Given the description of an element on the screen output the (x, y) to click on. 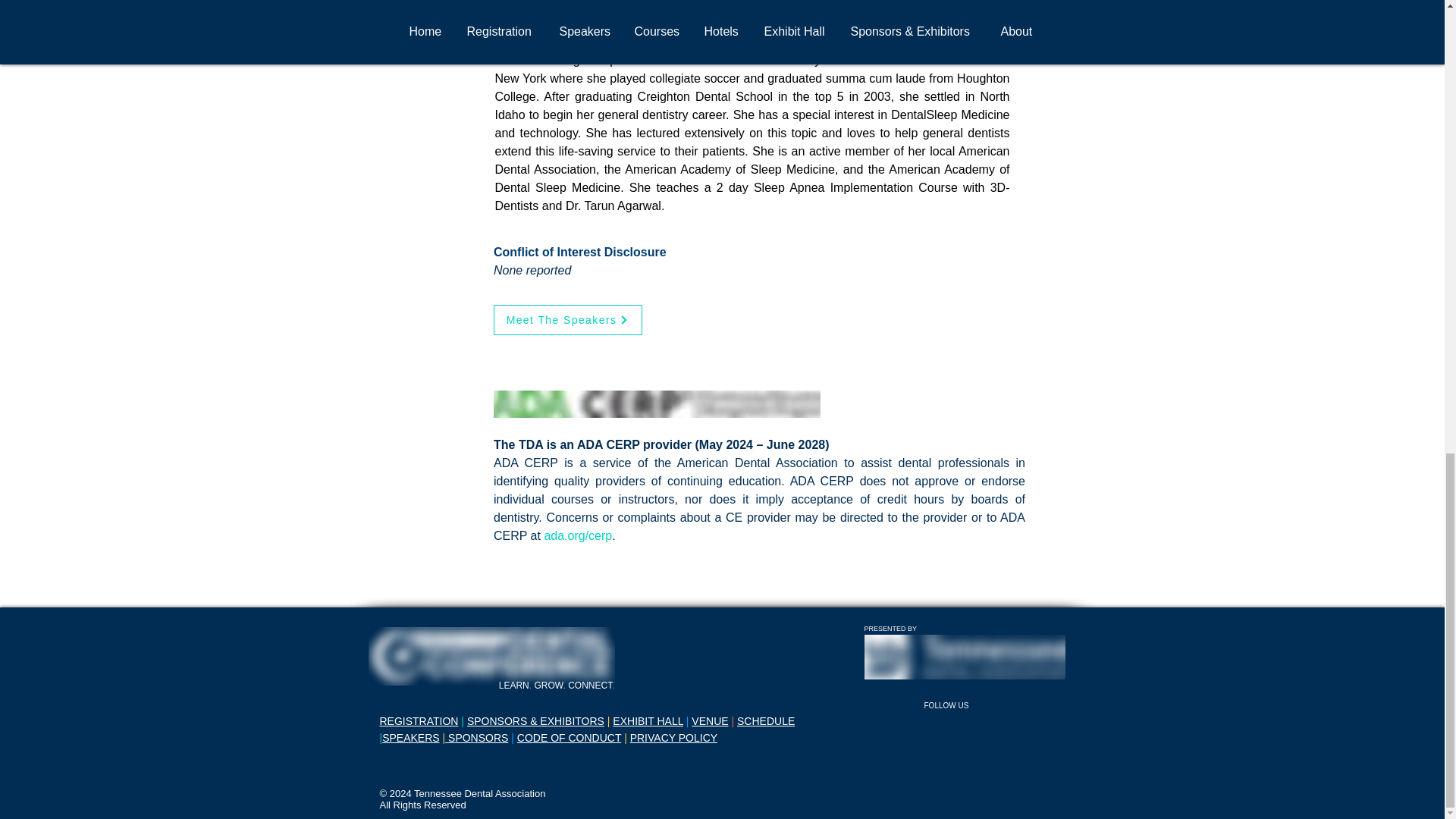
REGISTRATION (418, 720)
VENUE (709, 720)
SCHEDULE (765, 720)
PRIVACY POLICY (673, 737)
SPONSORS (476, 737)
Meet The Speakers (567, 319)
CODE OF CONDUCT (568, 737)
SPEAKERS (410, 737)
